Given the description of an element on the screen output the (x, y) to click on. 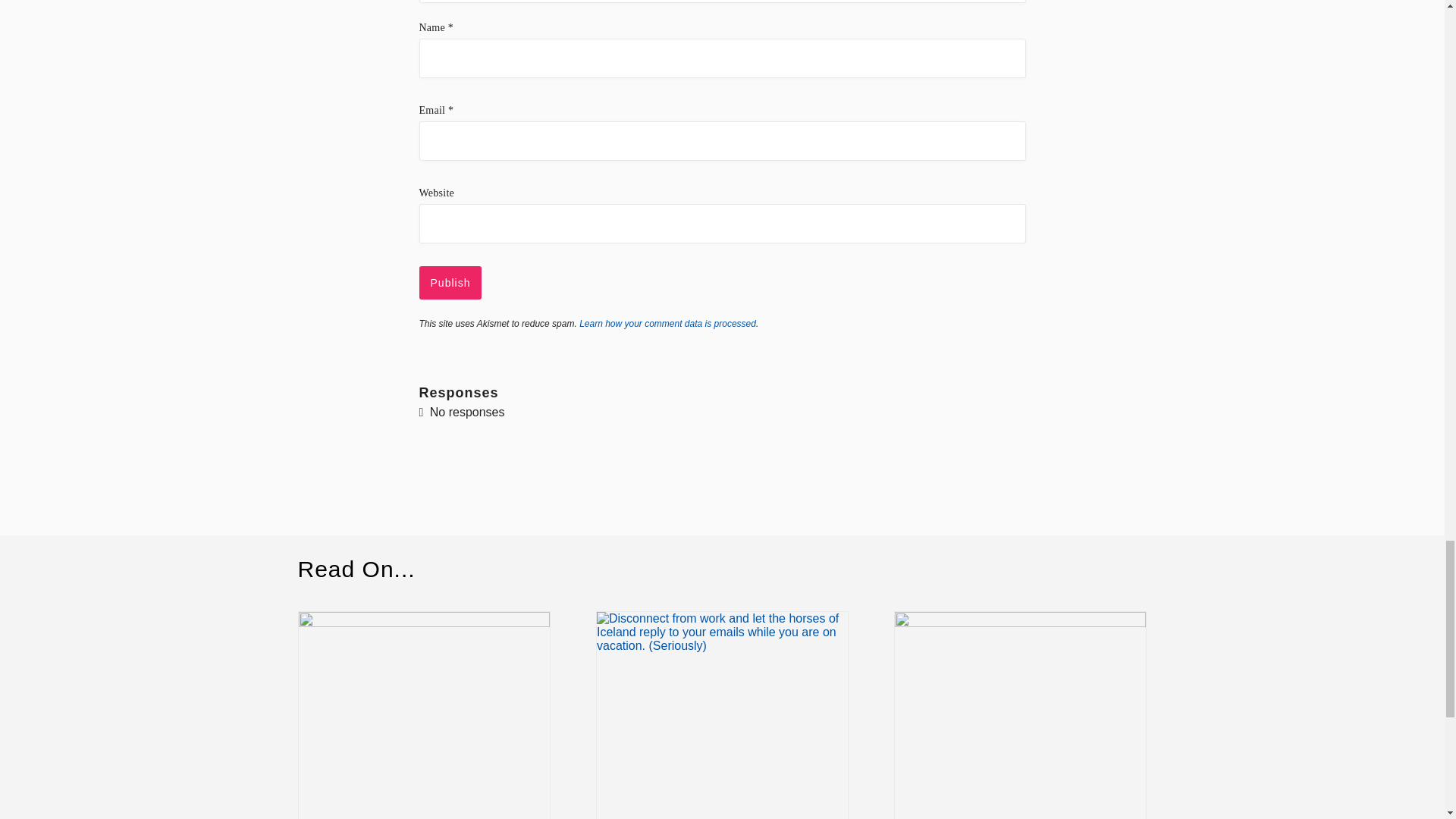
Publish (450, 282)
Learn how your comment data is processed (667, 323)
Publish (450, 282)
